Given the description of an element on the screen output the (x, y) to click on. 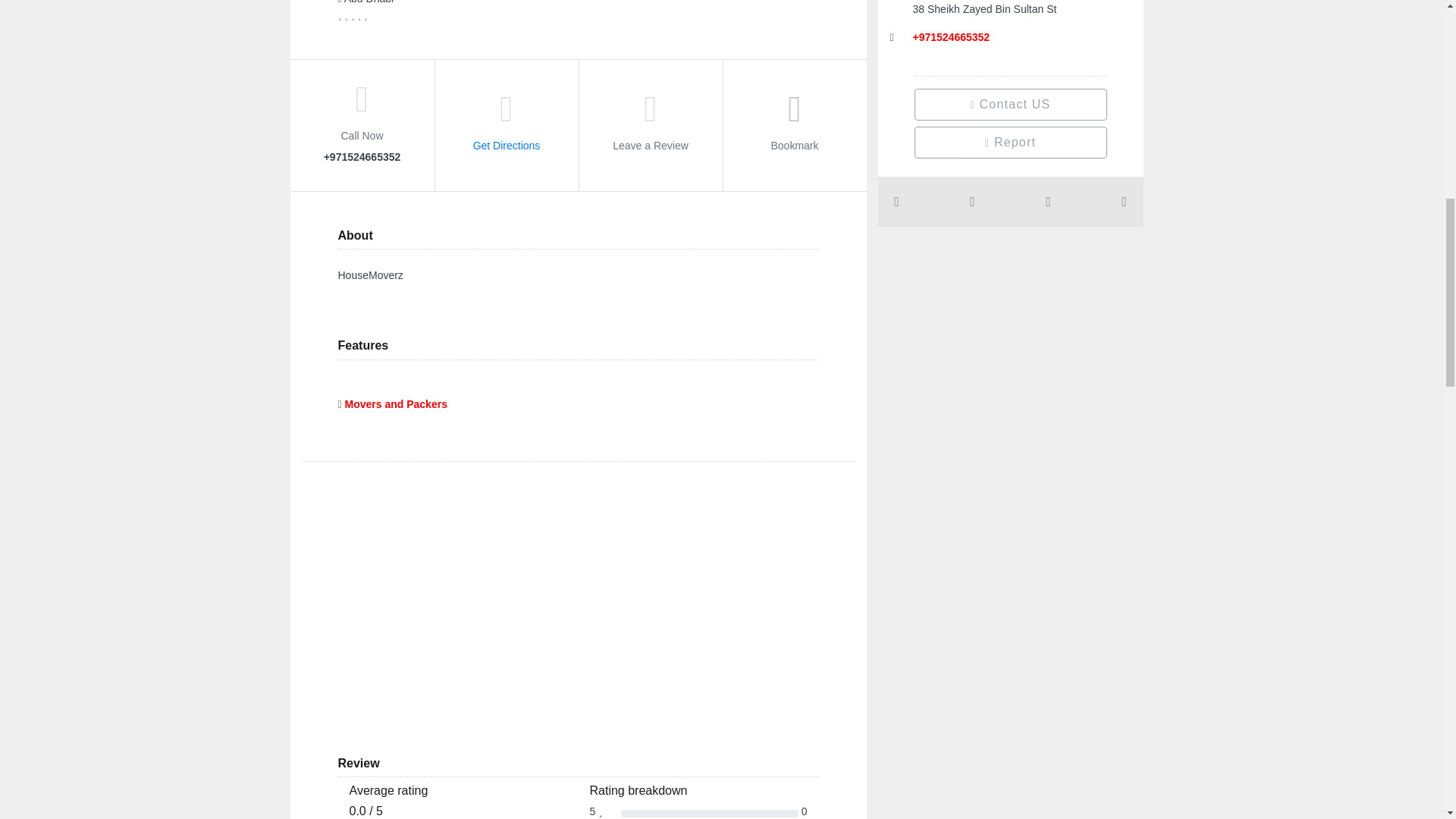
Add to Favorites (794, 117)
